Given the description of an element on the screen output the (x, y) to click on. 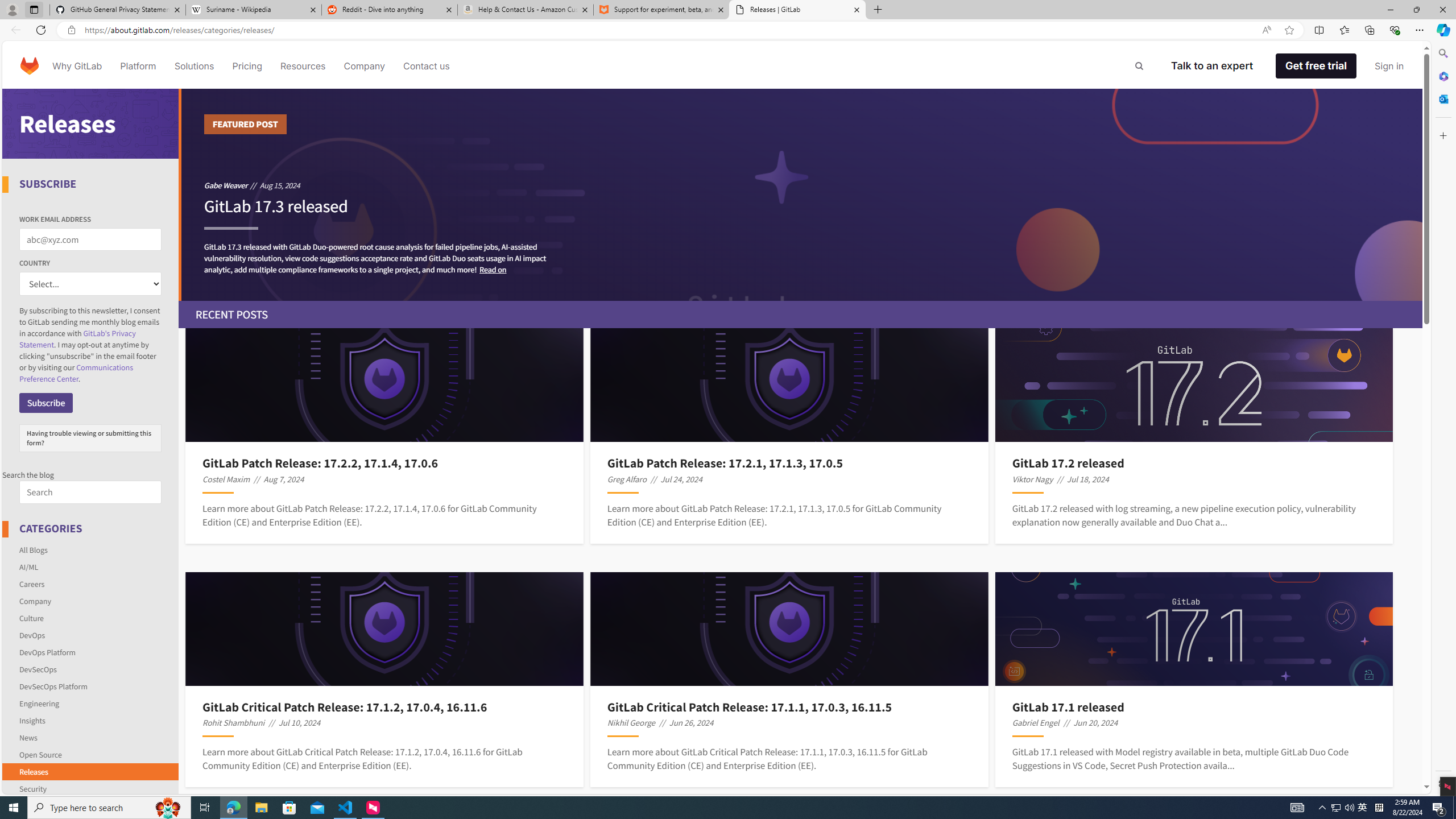
Open Source (40, 754)
DevOps (90, 634)
DevSecOps (90, 669)
DevOps Platform (90, 651)
Open Source (90, 754)
Pricing (246, 65)
Post Image (1193, 628)
Gabe Weaver (225, 184)
GitLab home page (29, 65)
DevOps Platform (46, 652)
